Given the description of an element on the screen output the (x, y) to click on. 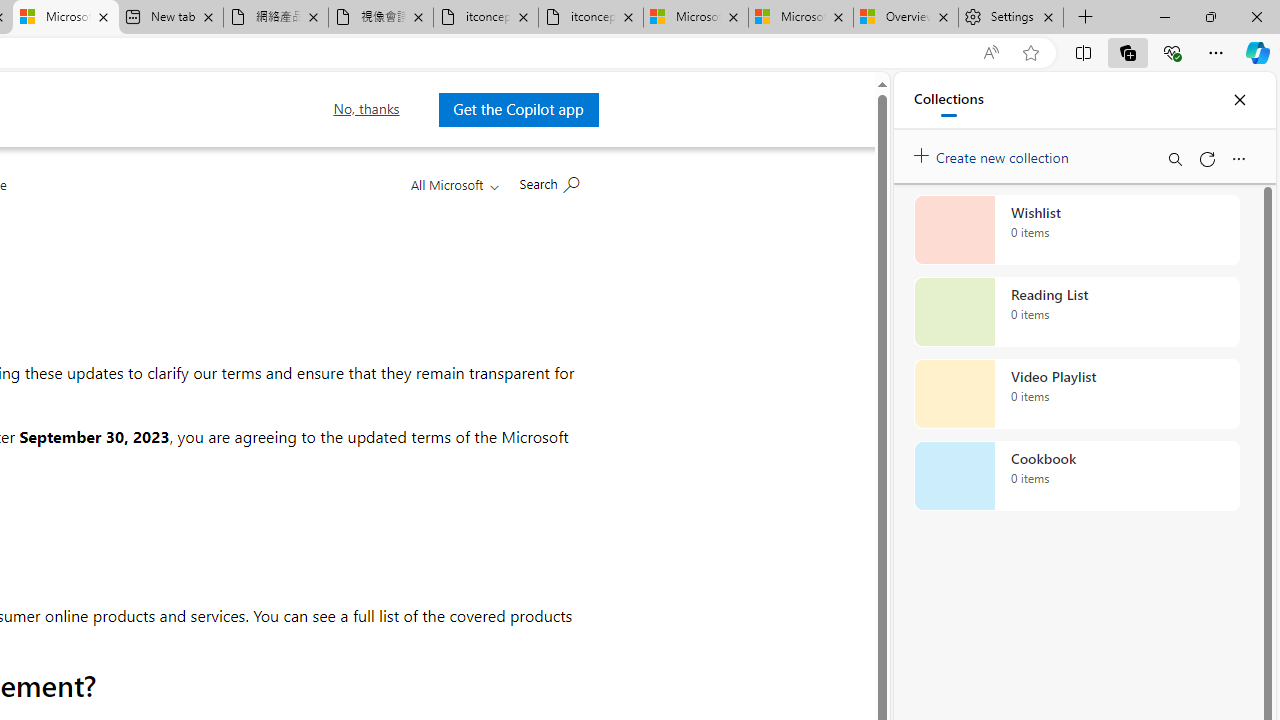
itconcepthk.com/projector_solutions.mp4 (590, 17)
More options menu (1238, 158)
